Given the description of an element on the screen output the (x, y) to click on. 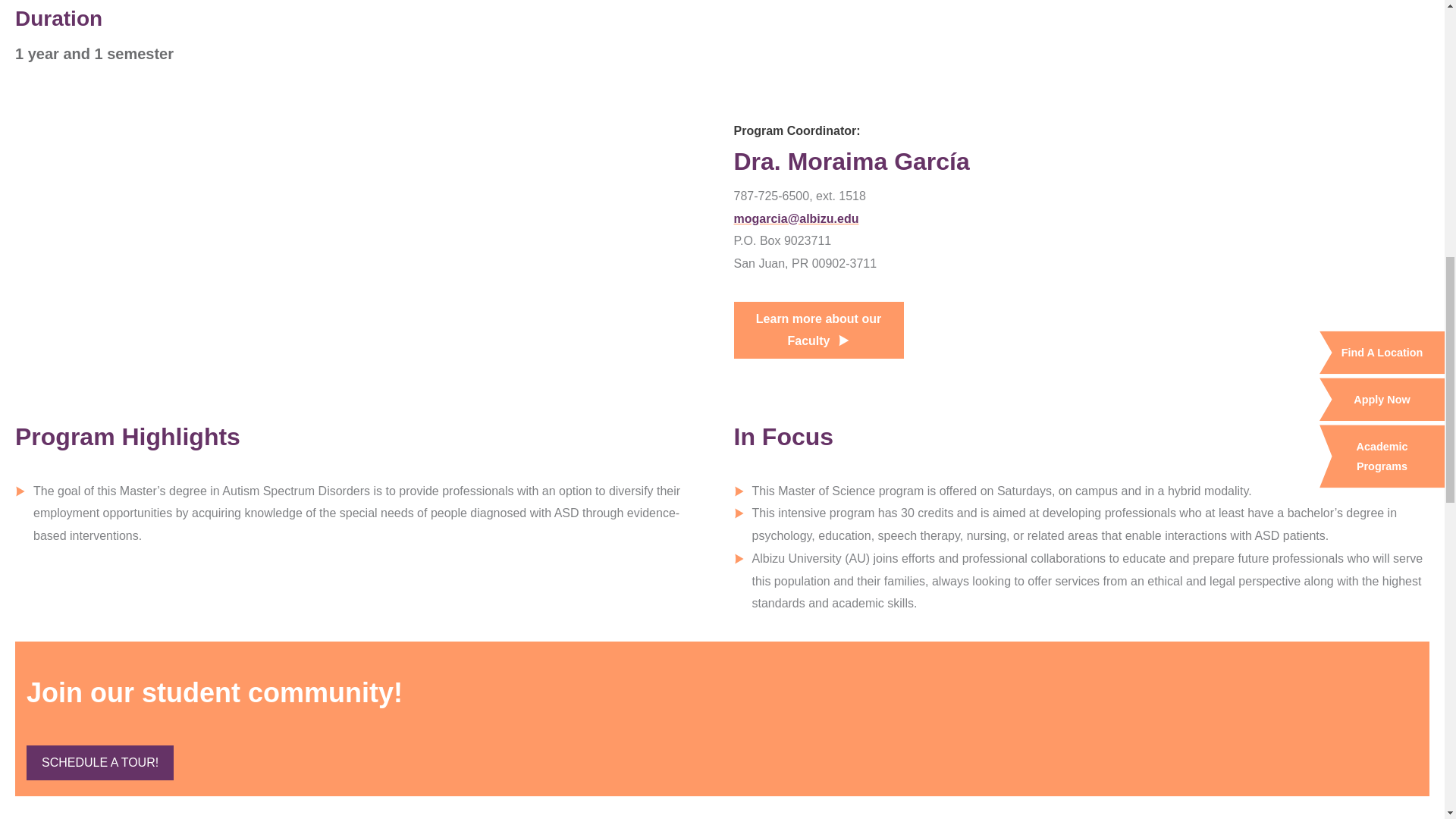
Programs (99, 762)
SJU-Moraima-Garcia-Albizu-Staff (362, 236)
